Given the description of an element on the screen output the (x, y) to click on. 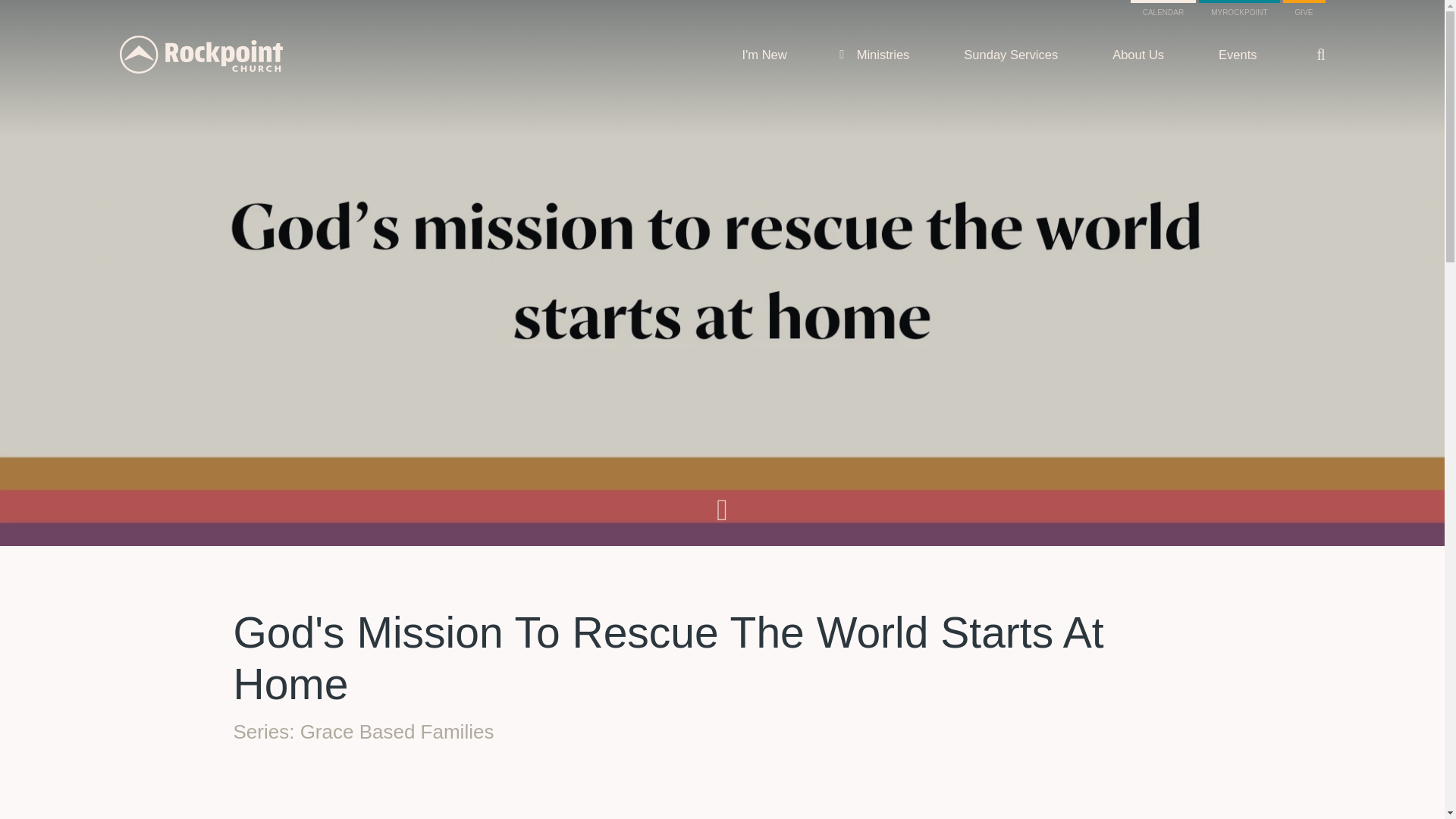
Give (1303, 12)
I'm New (763, 54)
MYROCKPOINT (1238, 12)
Calendar (1163, 12)
God's Mission To Rescue The World Starts At Home (721, 786)
Rockpoint Church (200, 55)
Ministries (883, 54)
GIVE (1303, 12)
MyRockpoint (1238, 12)
CALENDAR (1163, 12)
